Given the description of an element on the screen output the (x, y) to click on. 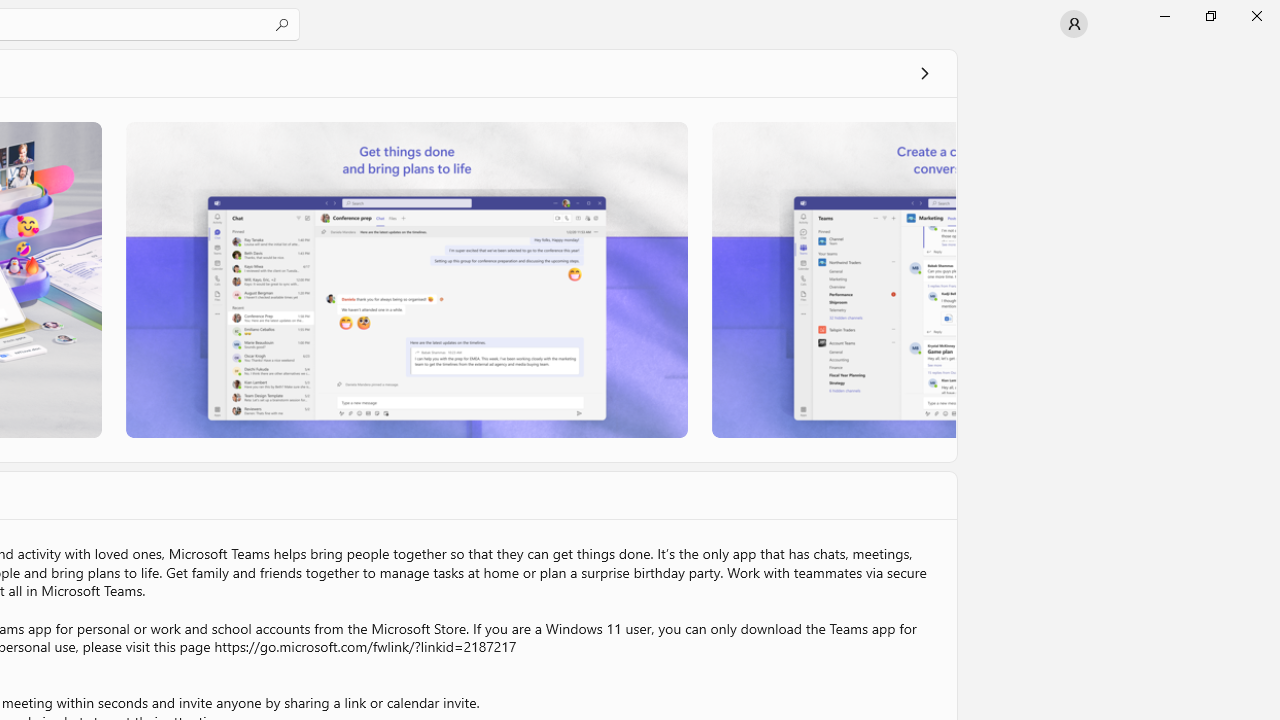
Screenshot 3 (833, 279)
Screenshot 2 (406, 279)
See all (924, 72)
